Given the description of an element on the screen output the (x, y) to click on. 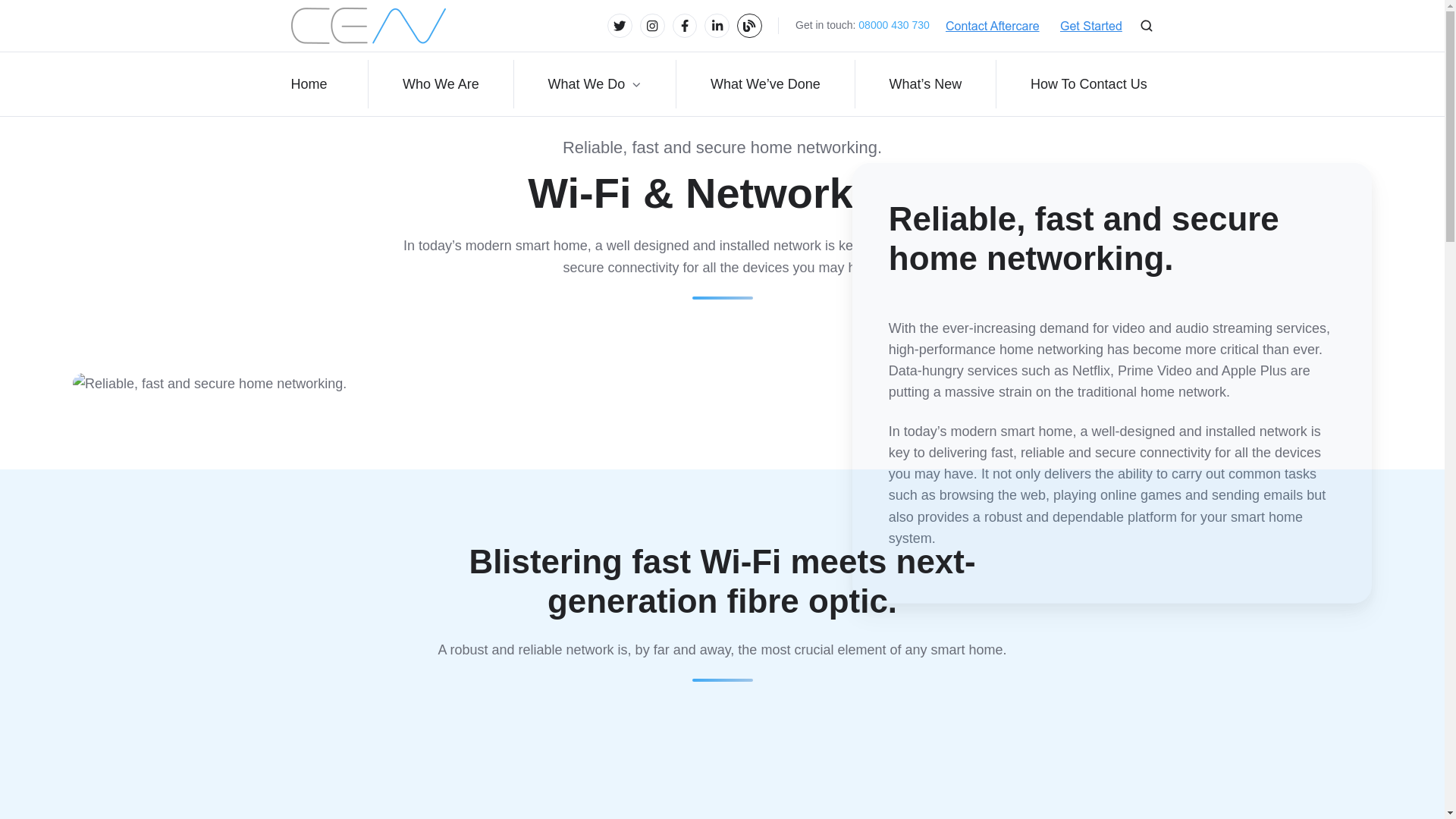
Instagram (652, 25)
08000 430 730 (893, 24)
Facebook (684, 25)
Twitter (619, 25)
Blog (748, 25)
GreyAndBlue 360x180 (368, 25)
LinkedIn (716, 25)
